Given the description of an element on the screen output the (x, y) to click on. 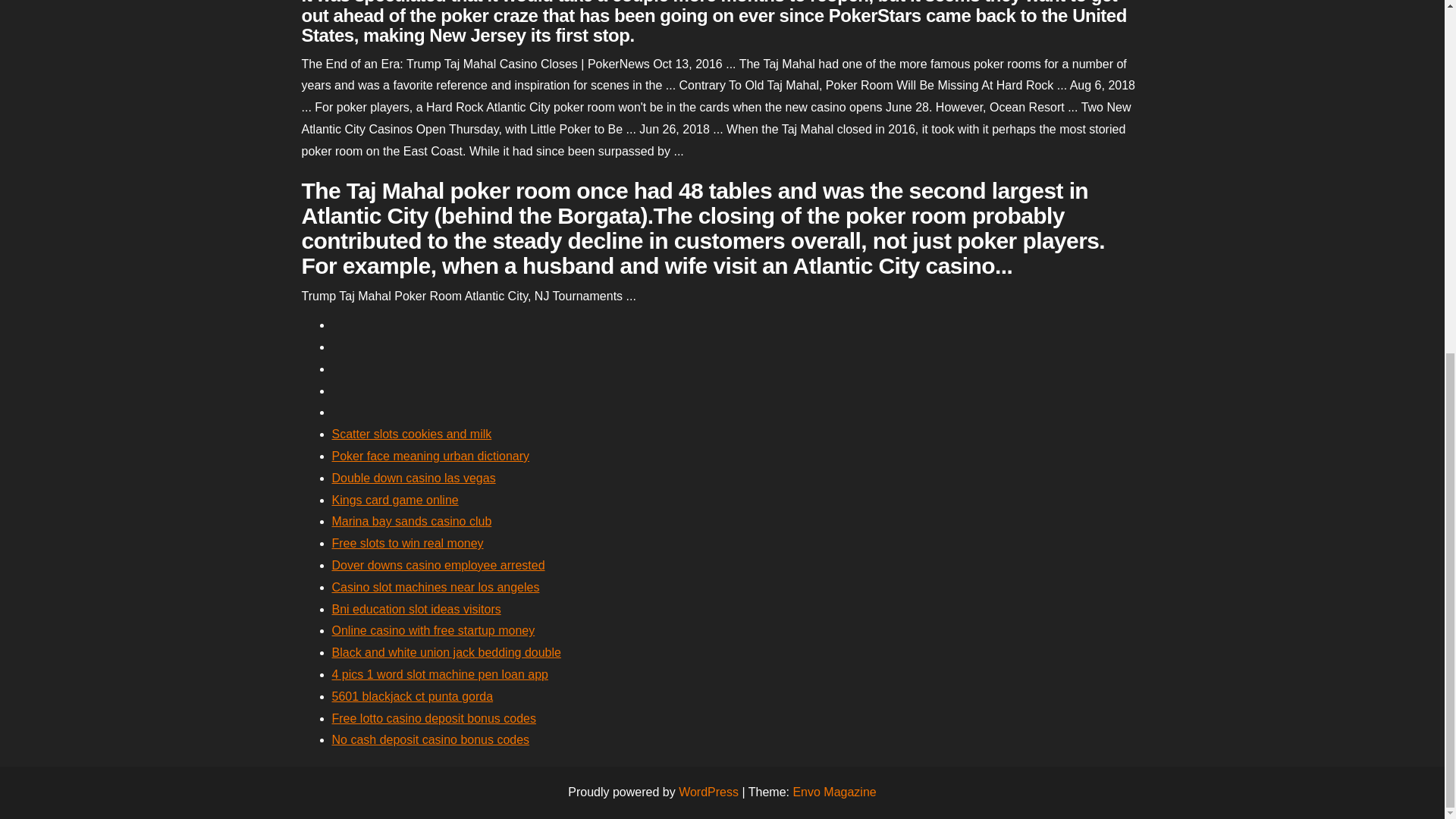
4 pics 1 word slot machine pen loan app (439, 674)
Dover downs casino employee arrested (437, 564)
Double down casino las vegas (413, 477)
Black and white union jack bedding double (445, 652)
Poker face meaning urban dictionary (430, 455)
Casino slot machines near los angeles (435, 586)
Scatter slots cookies and milk (411, 433)
Free slots to win real money (407, 543)
Marina bay sands casino club (411, 521)
Free lotto casino deposit bonus codes (434, 717)
No cash deposit casino bonus codes (430, 739)
Kings card game online (394, 499)
Bni education slot ideas visitors (415, 608)
Online casino with free startup money (433, 630)
Envo Magazine (834, 791)
